Given the description of an element on the screen output the (x, y) to click on. 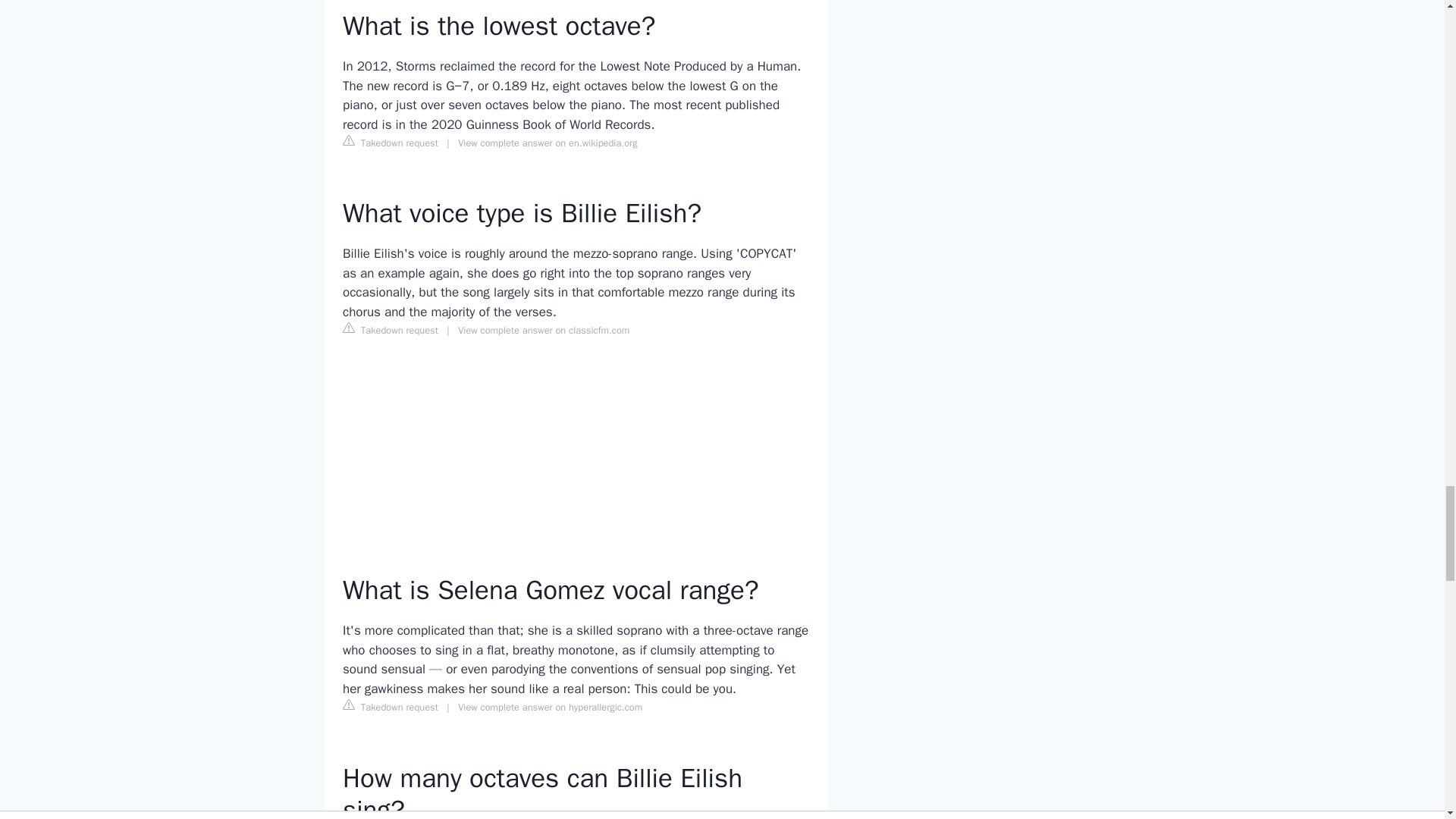
View complete answer on en.wikipedia.org (547, 143)
Takedown request (390, 706)
Takedown request (390, 142)
View complete answer on classicfm.com (543, 330)
Takedown request (390, 329)
